Given the description of an element on the screen output the (x, y) to click on. 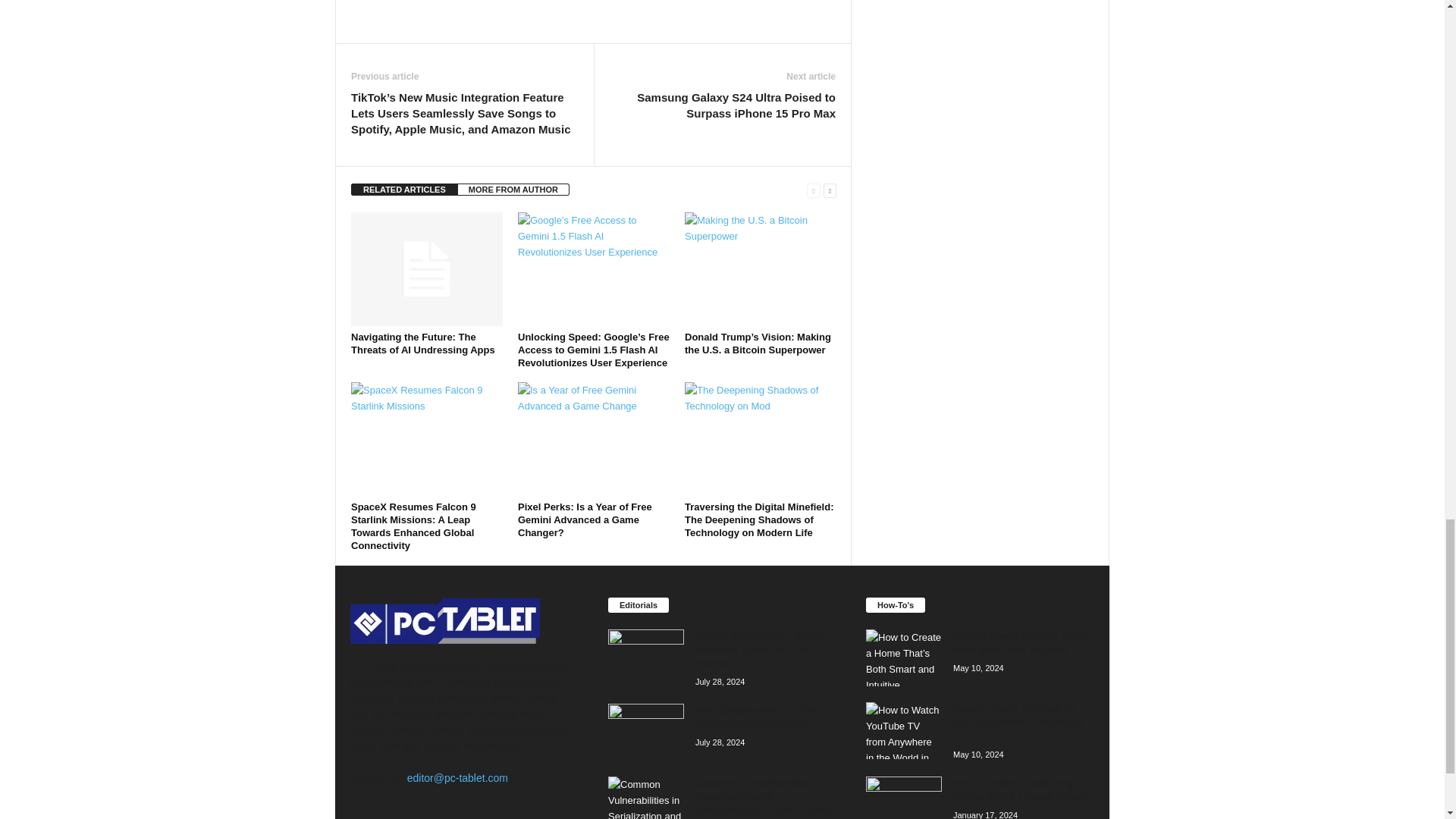
MORE FROM AUTHOR (513, 189)
RELATED ARTICLES (404, 189)
Navigating the Future: The Threats of AI Undressing Apps (426, 268)
Samsung Galaxy S24 Ultra Poised to Surpass iPhone 15 Pro Max (721, 105)
